Given the description of an element on the screen output the (x, y) to click on. 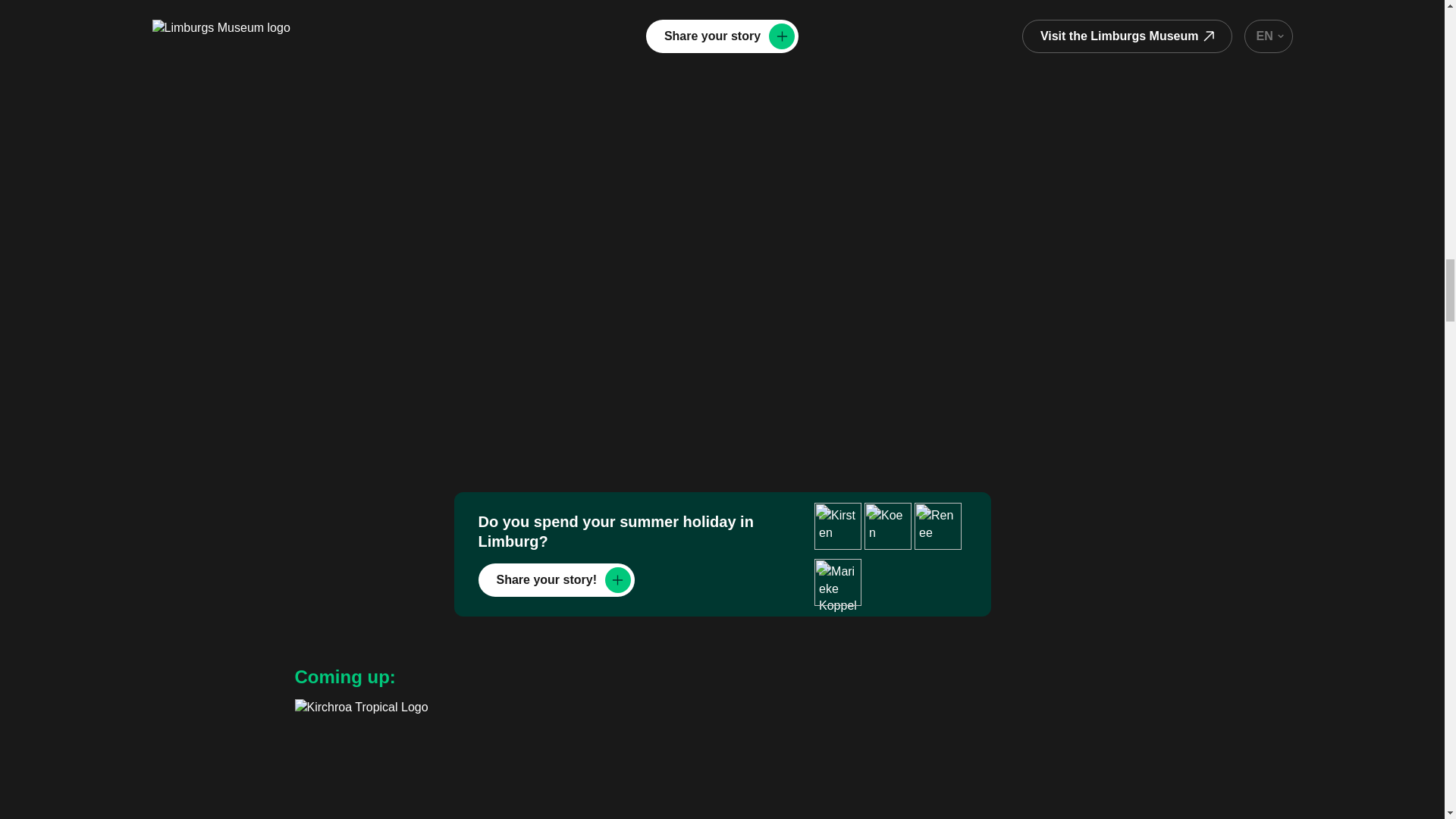
Share your story! (555, 580)
